Given the description of an element on the screen output the (x, y) to click on. 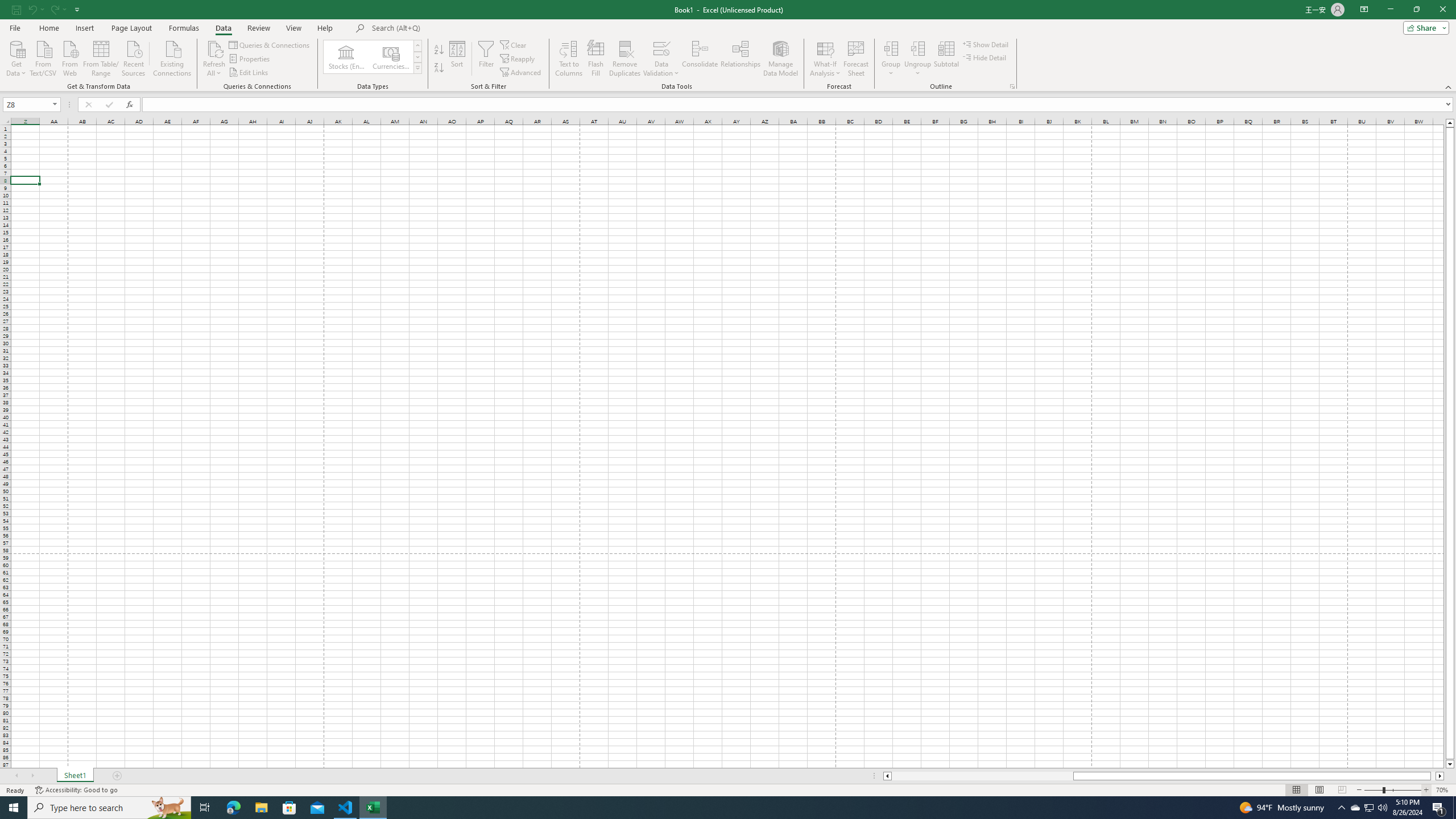
Subtotal (946, 58)
Text to Columns... (568, 58)
Filter (485, 58)
From Table/Range (100, 57)
